Given the description of an element on the screen output the (x, y) to click on. 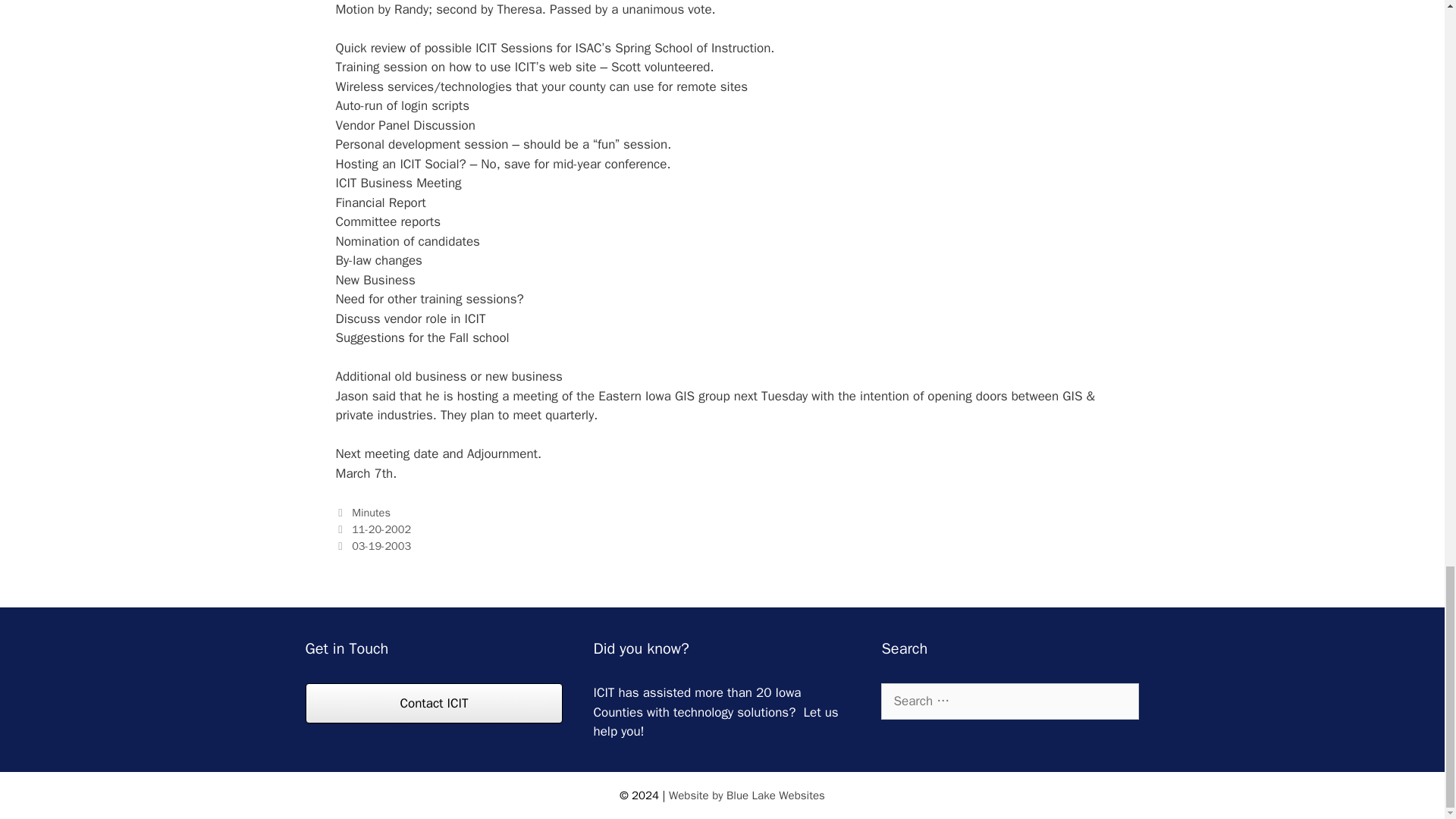
03-19-2003 (381, 545)
Minutes (371, 512)
11-20-2002 (381, 529)
Search for: (1009, 701)
Contact ICIT (433, 703)
Website by Blue Lake Websites (746, 795)
